Given the description of an element on the screen output the (x, y) to click on. 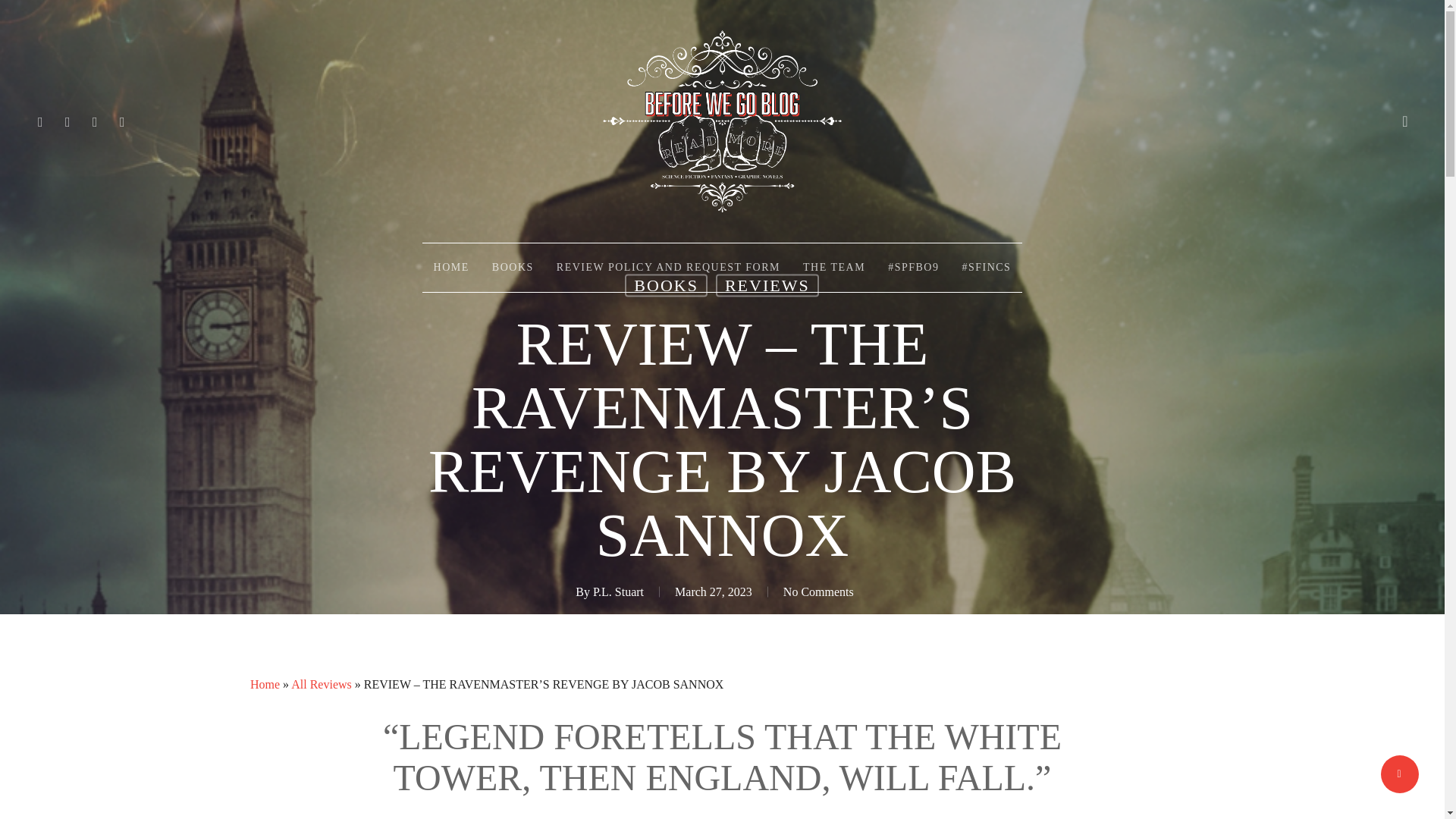
PINTEREST (95, 121)
THE TEAM (834, 267)
P.L. Stuart (617, 591)
REVIEWS (767, 285)
Posts by P.L. Stuart (617, 591)
BOOKS (665, 285)
INSTAGRAM (122, 121)
REVIEW POLICY AND REQUEST FORM (668, 267)
FACEBOOK (68, 121)
BOOKS (512, 267)
All Reviews (321, 684)
TWITTER (41, 121)
No Comments (818, 591)
Home (264, 684)
HOME (451, 267)
